Given the description of an element on the screen output the (x, y) to click on. 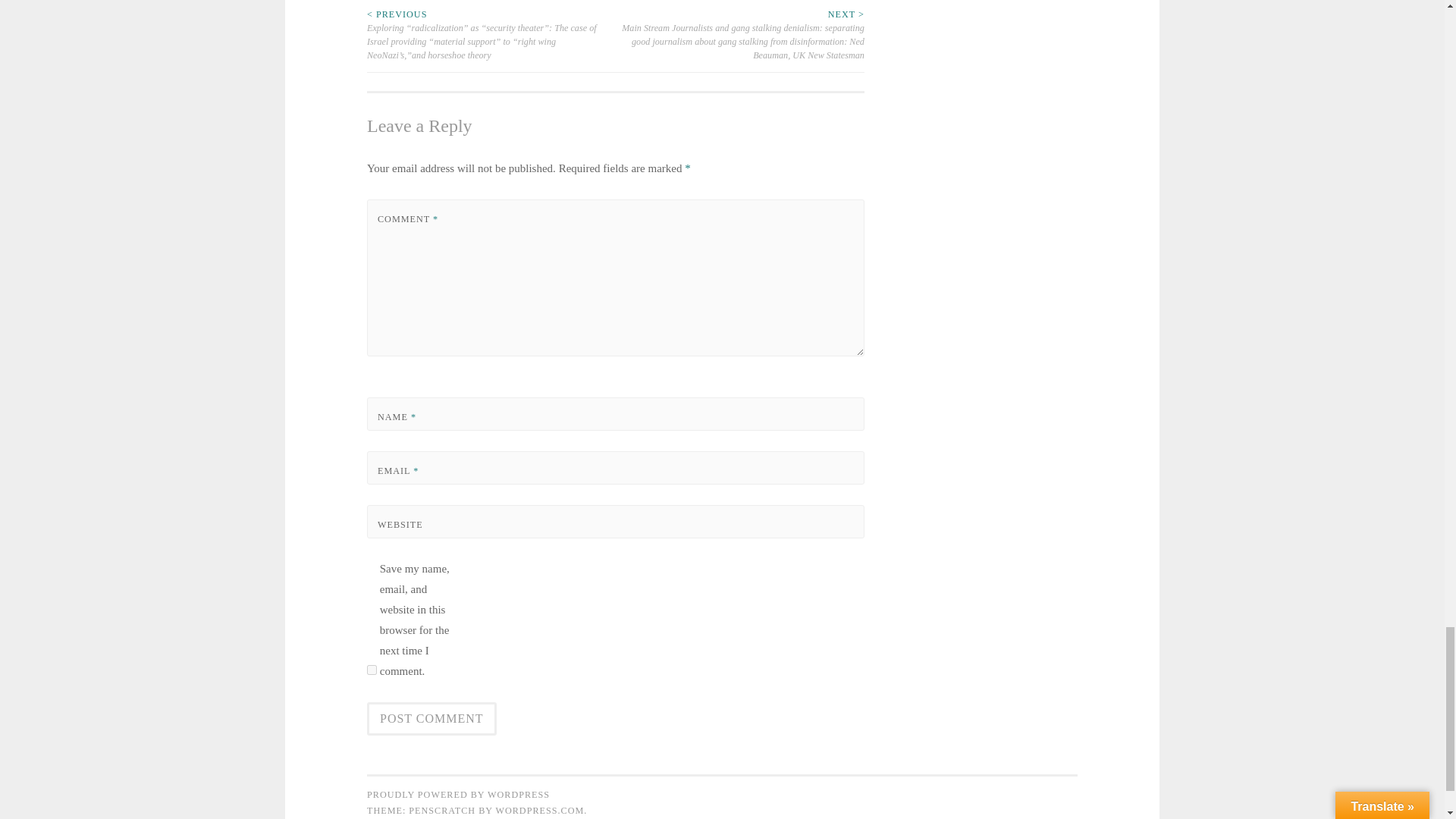
yes (371, 669)
Post Comment (431, 718)
